Given the description of an element on the screen output the (x, y) to click on. 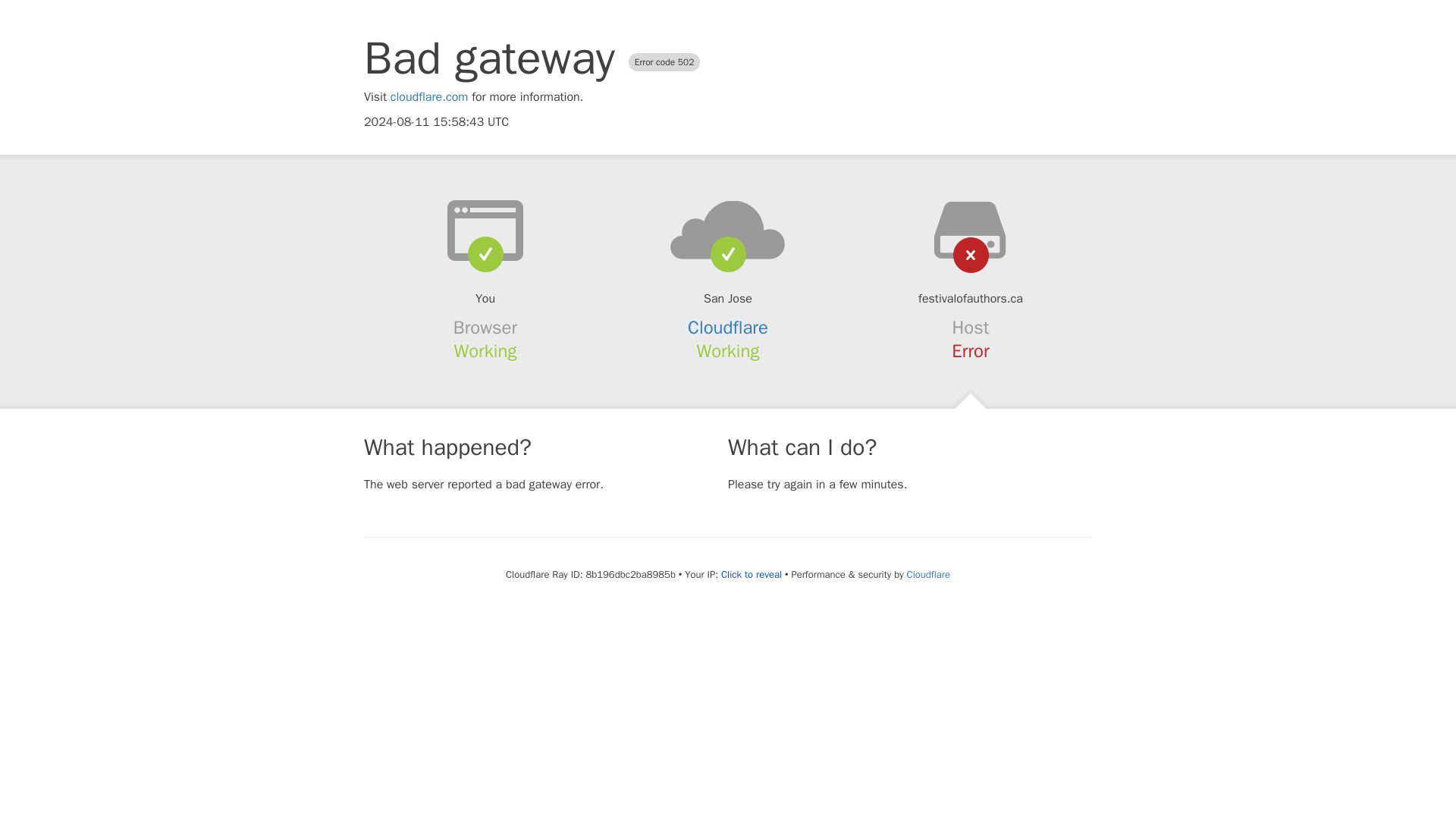
Cloudflare (928, 574)
Click to reveal (750, 574)
cloudflare.com (429, 96)
Cloudflare (727, 327)
